Given the description of an element on the screen output the (x, y) to click on. 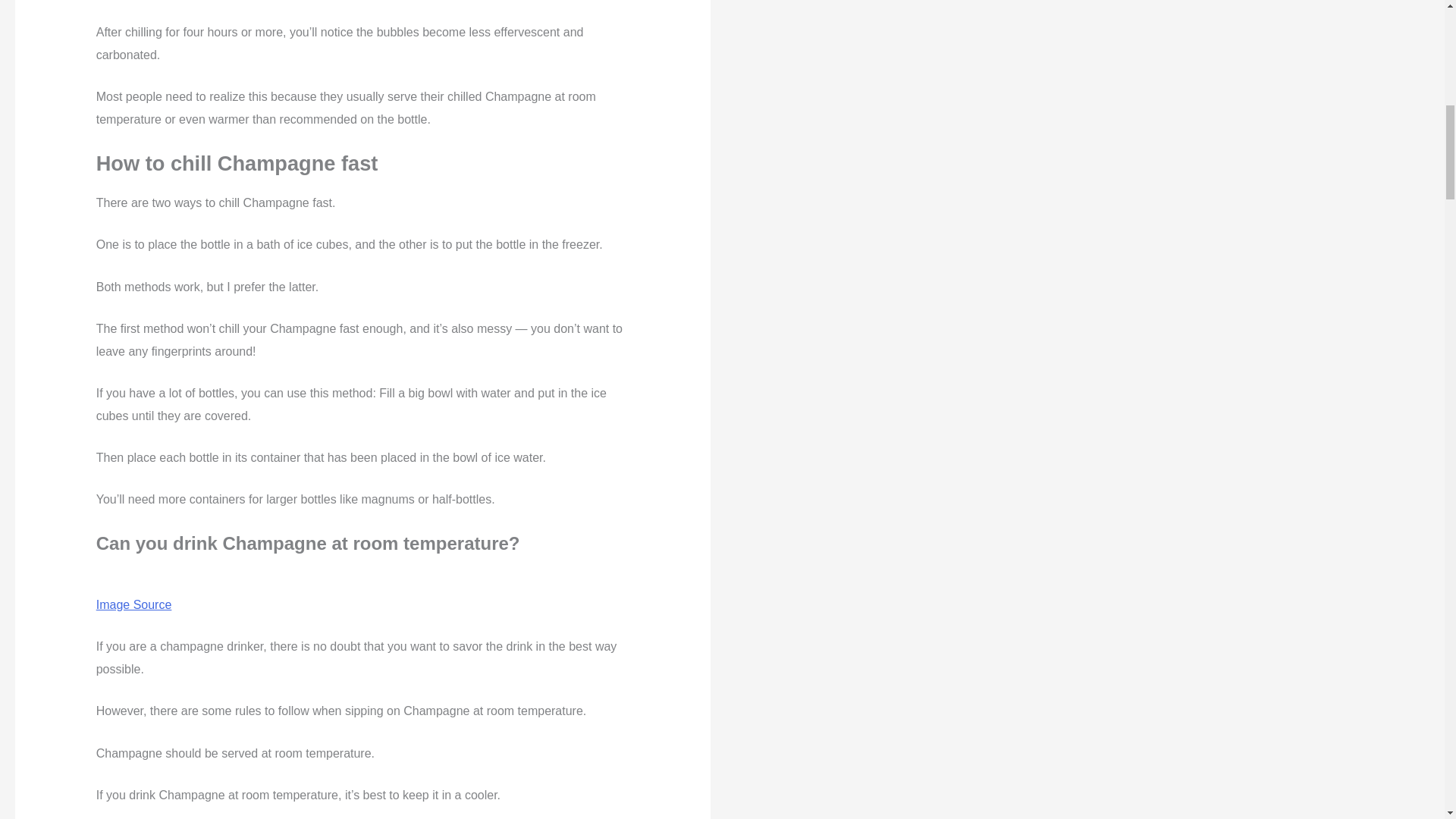
Image Source (133, 604)
